Given the description of an element on the screen output the (x, y) to click on. 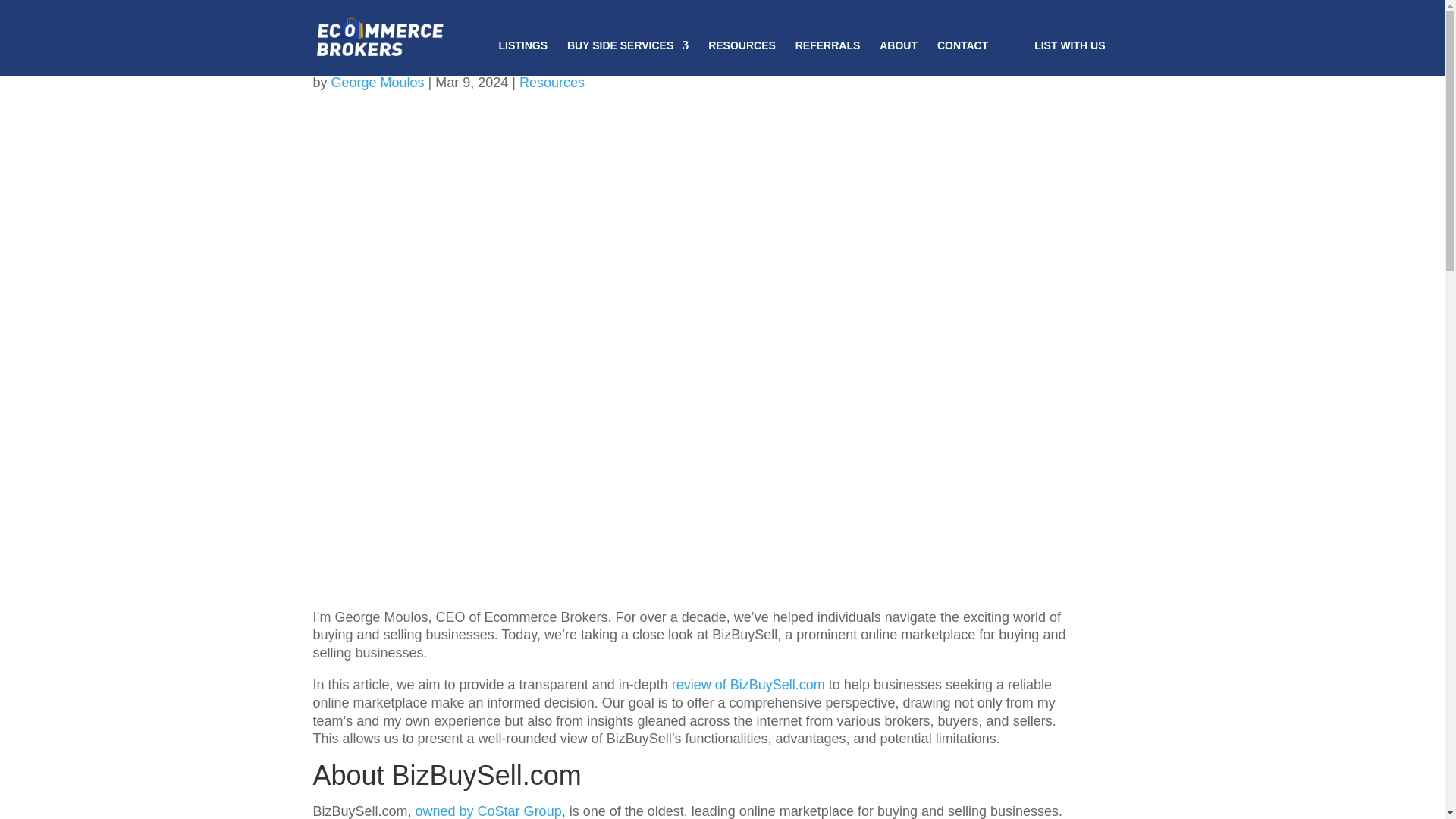
review of BizBuySell.com (748, 684)
LISTINGS (523, 58)
George Moulos (378, 82)
REFERRALS (827, 58)
CONTACT (962, 58)
Resources (552, 82)
RESOURCES (741, 58)
Posts by George Moulos (378, 82)
BUY SIDE SERVICES (627, 58)
LIST WITH US (1069, 45)
owned by CoStar Group (488, 811)
ABOUT (898, 58)
